Given the description of an element on the screen output the (x, y) to click on. 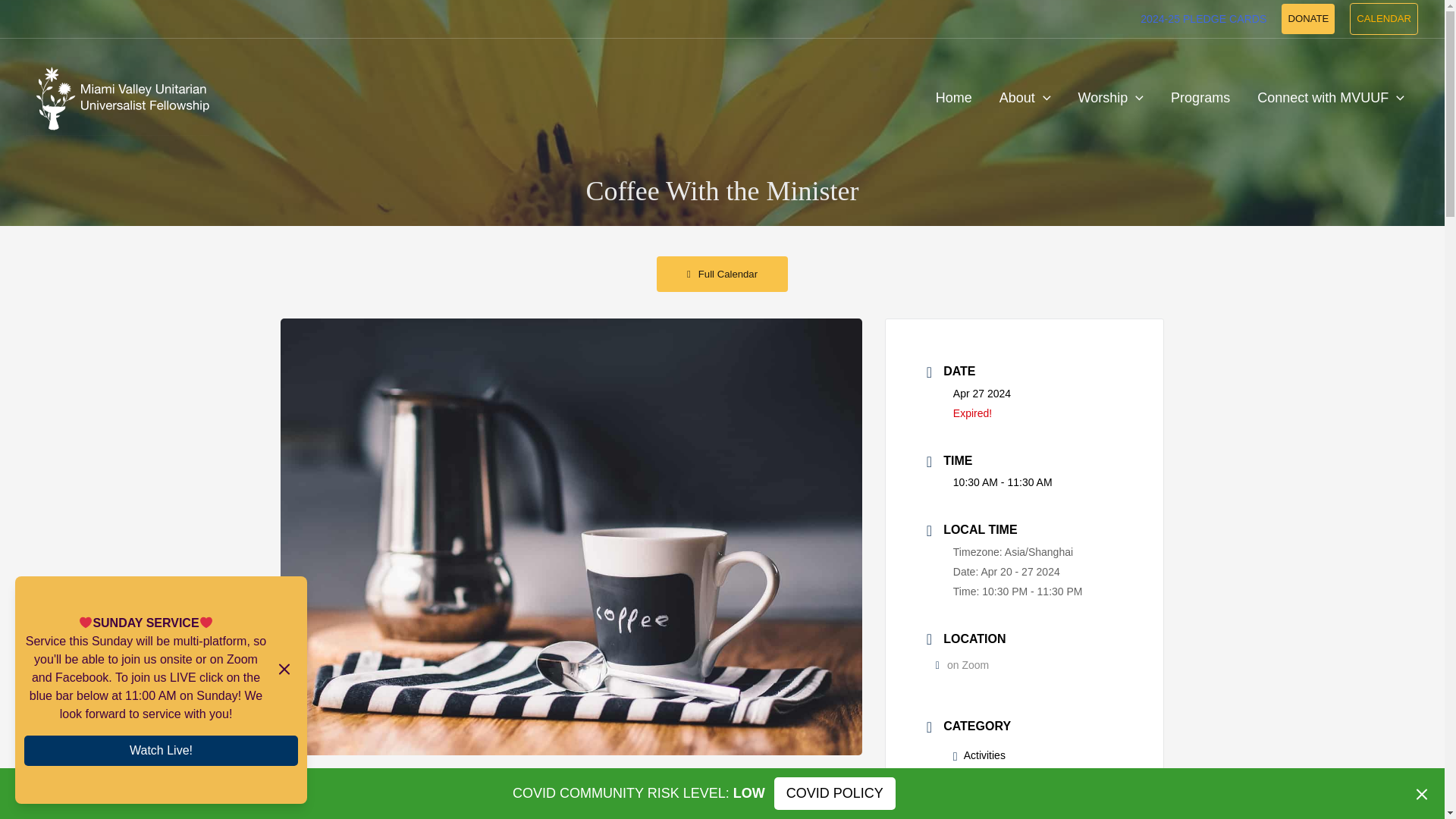
Worship (1110, 97)
About (1024, 97)
DONATE (1308, 19)
Programs (1200, 97)
Connect with MVUUF (1330, 97)
Home (953, 97)
CALENDAR (1383, 19)
2024-25 PLEDGE CARDS (1203, 19)
